Given the description of an element on the screen output the (x, y) to click on. 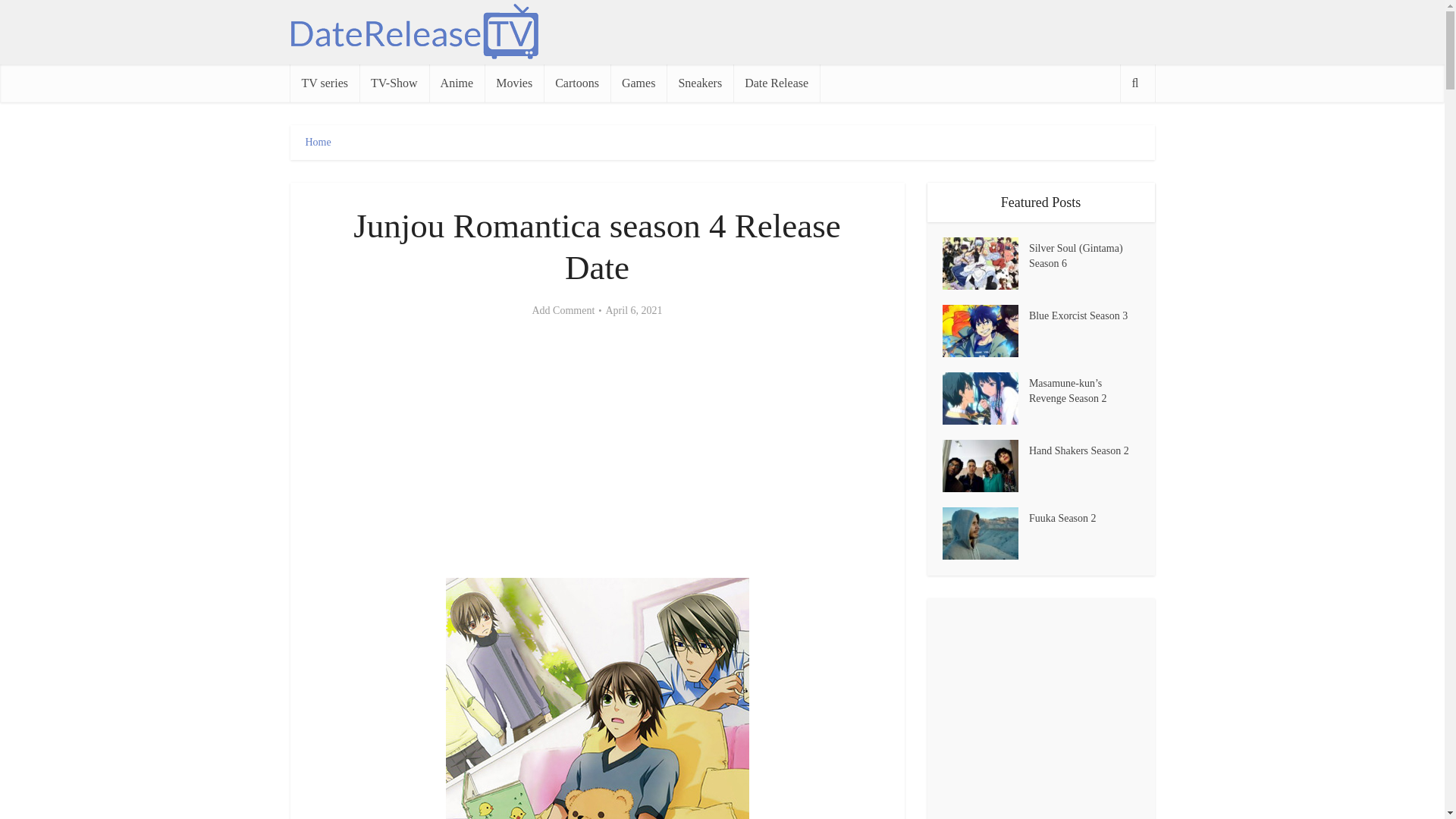
Sneakers (699, 83)
Date Release (776, 83)
Add Comment (562, 310)
Home (317, 142)
Anime (456, 83)
Cartoons (576, 83)
Advertisement (597, 449)
TV-Show (394, 83)
Movies (513, 83)
